Given the description of an element on the screen output the (x, y) to click on. 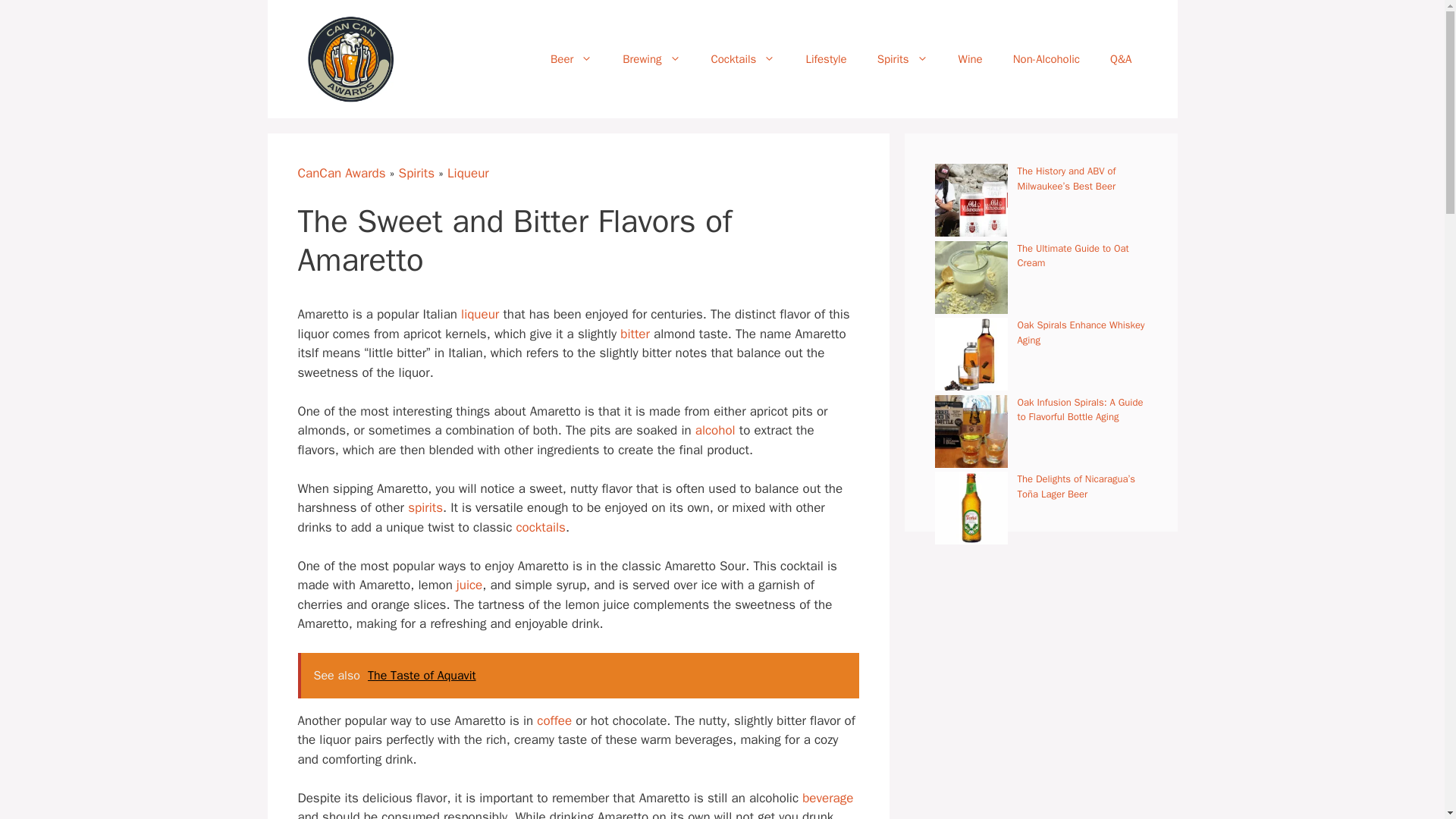
Brewing (651, 58)
Cocktails (742, 58)
Oak Infusion Spirals: A Guide to Flavorful Bottle Aging 5 (970, 430)
Oak Spirals Enhance Whiskey Aging 4 (970, 353)
Non-Alcoholic (1045, 58)
Wine (970, 58)
The Ultimate Guide to Oat Cream 3 (970, 276)
Spirits (902, 58)
Lifestyle (825, 58)
The History and ABV of Milwaukee's Best Beer 2 (970, 199)
Beer (571, 58)
